Given the description of an element on the screen output the (x, y) to click on. 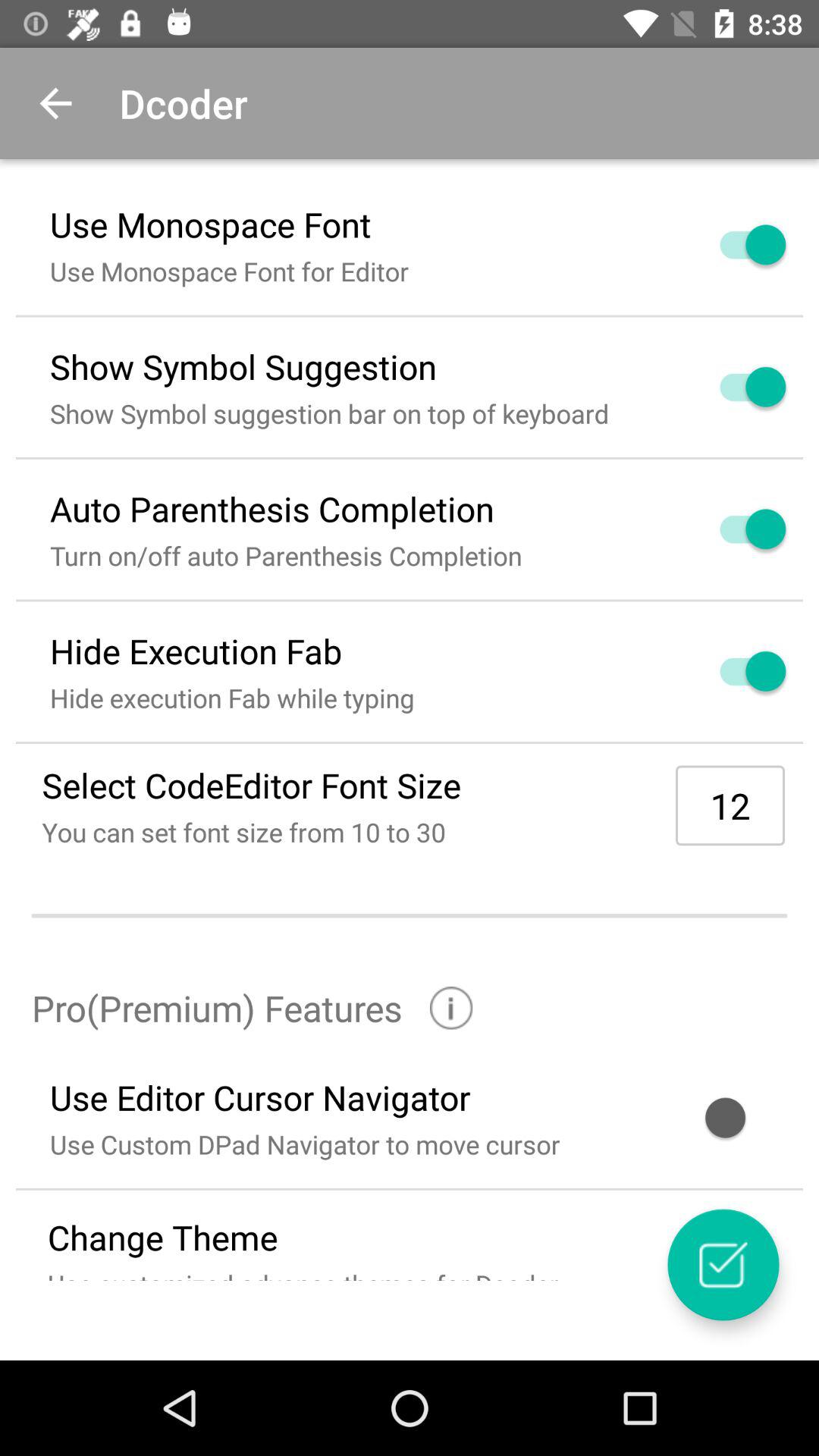
turn off font (734, 244)
